Given the description of an element on the screen output the (x, y) to click on. 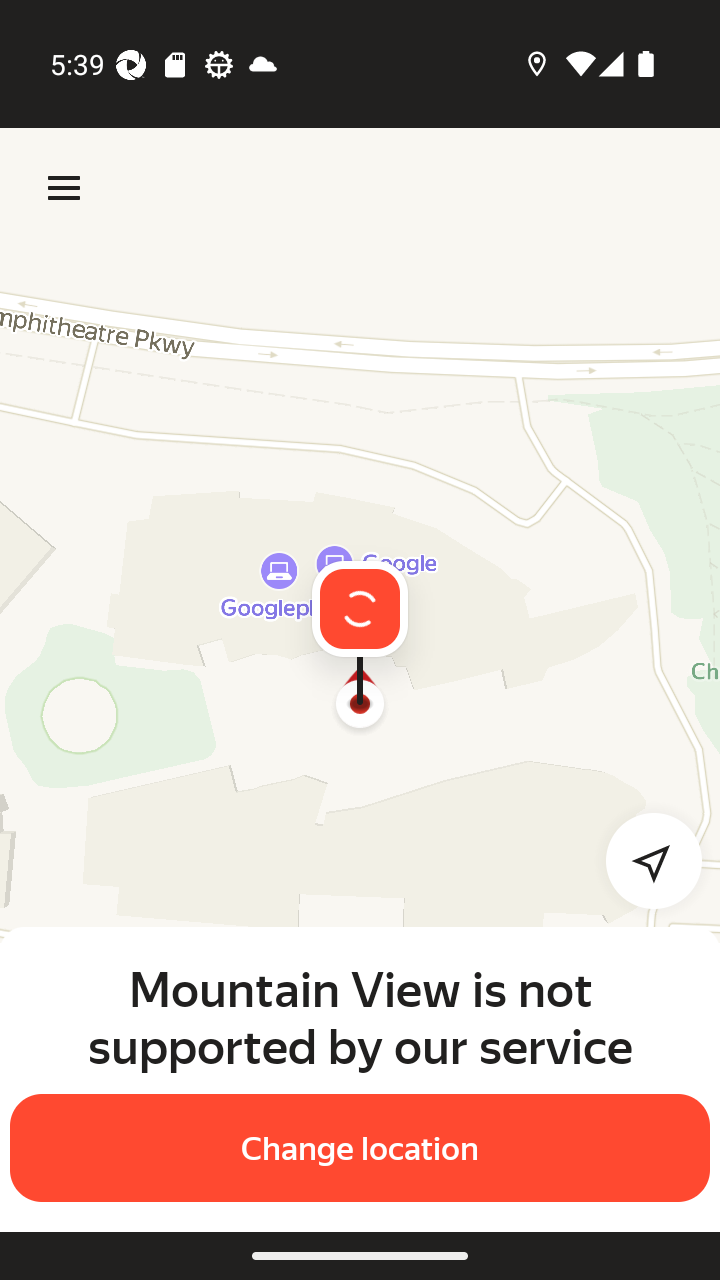
Menu Menu Menu (64, 188)
Detect my location (641, 860)
Mountain View is not supported by our service (360, 1017)
Change location (359, 1147)
